Given the description of an element on the screen output the (x, y) to click on. 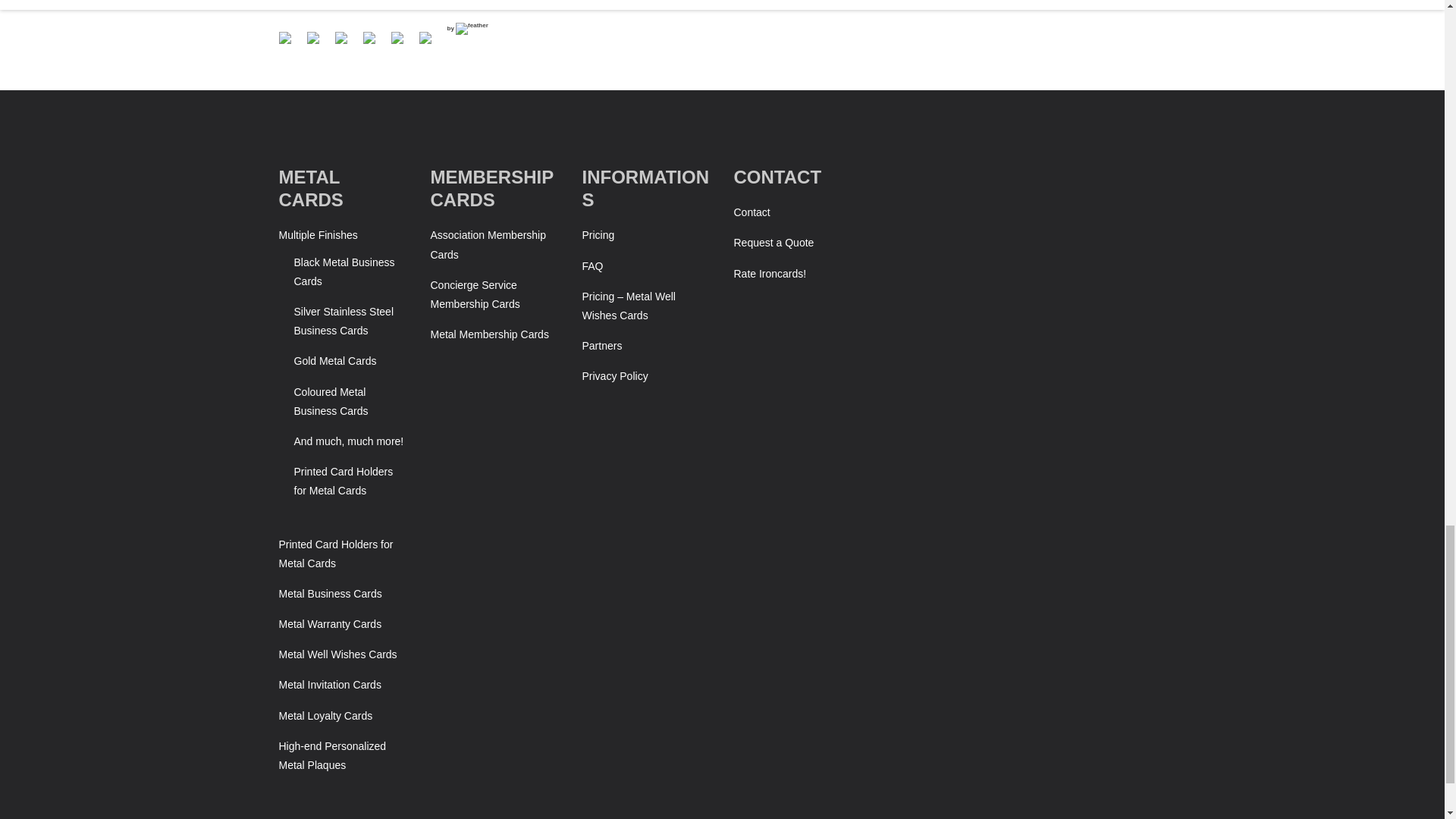
Partagez sur Facebook (290, 43)
Partagez sur Twitter (317, 43)
Partagez sur Twitter (311, 37)
Partagez sur Facebook (285, 37)
Partagez sur Pinterest (374, 43)
